Given the description of an element on the screen output the (x, y) to click on. 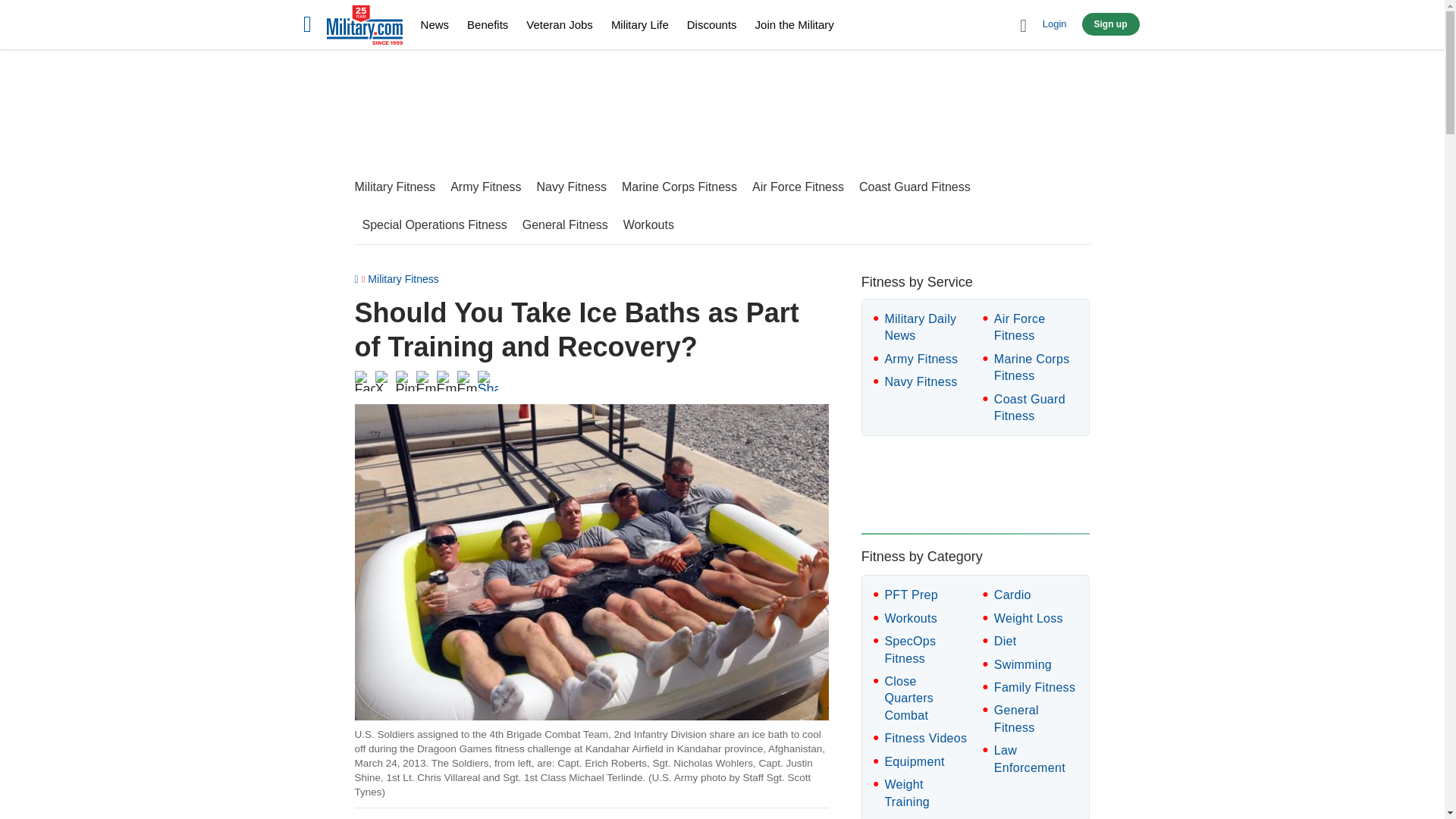
Benefits (487, 24)
Home (364, 27)
Veteran Jobs (558, 24)
Military Life (639, 24)
